Given the description of an element on the screen output the (x, y) to click on. 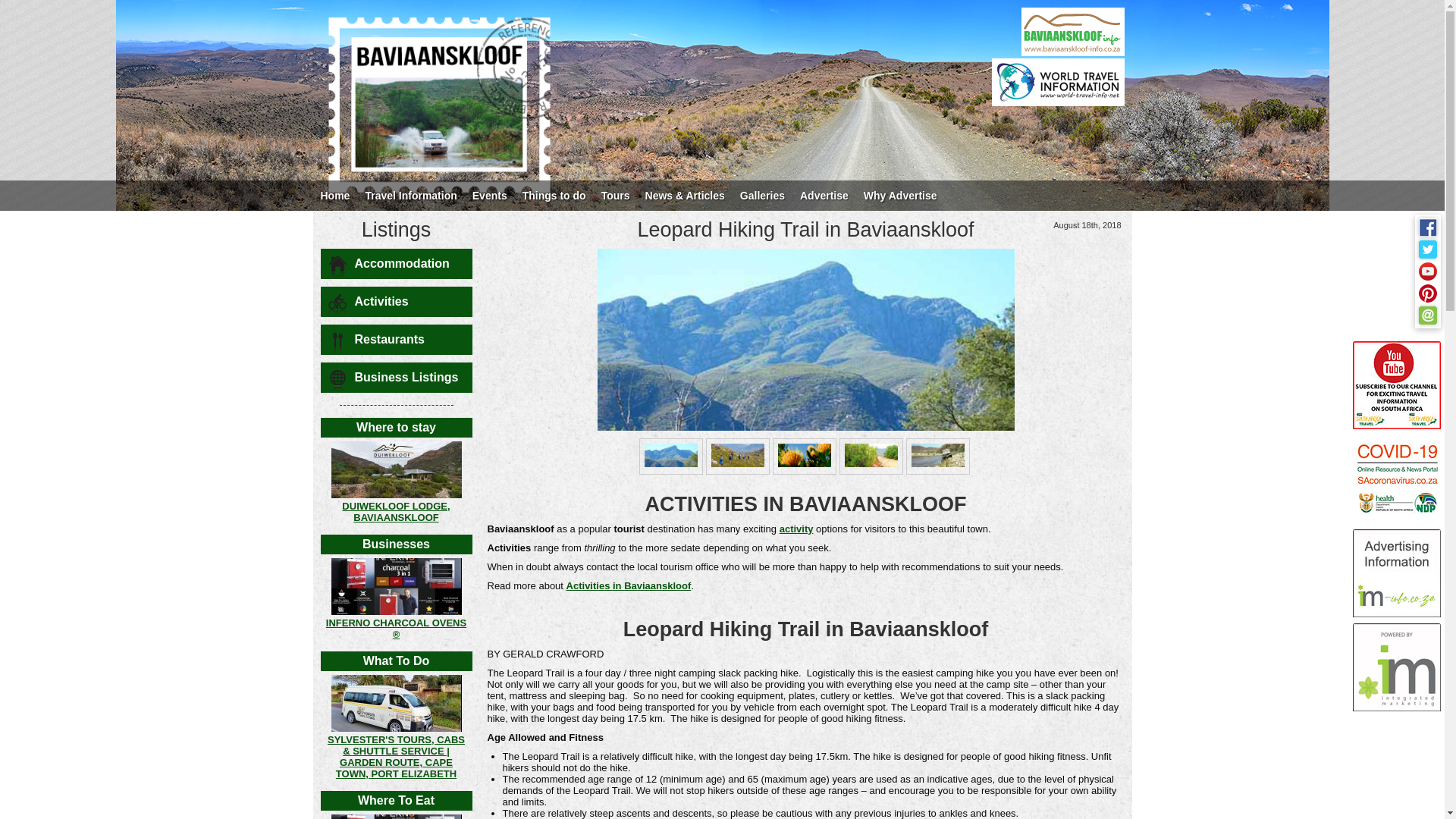
Email (1427, 315)
Find us on Facebook (1427, 227)
Advertise (824, 195)
Galleries (762, 195)
Travel Information (410, 195)
Why Advertise (900, 195)
Home (334, 195)
Things to do (554, 195)
Accommodation (395, 263)
Tours (615, 195)
